Given the description of an element on the screen output the (x, y) to click on. 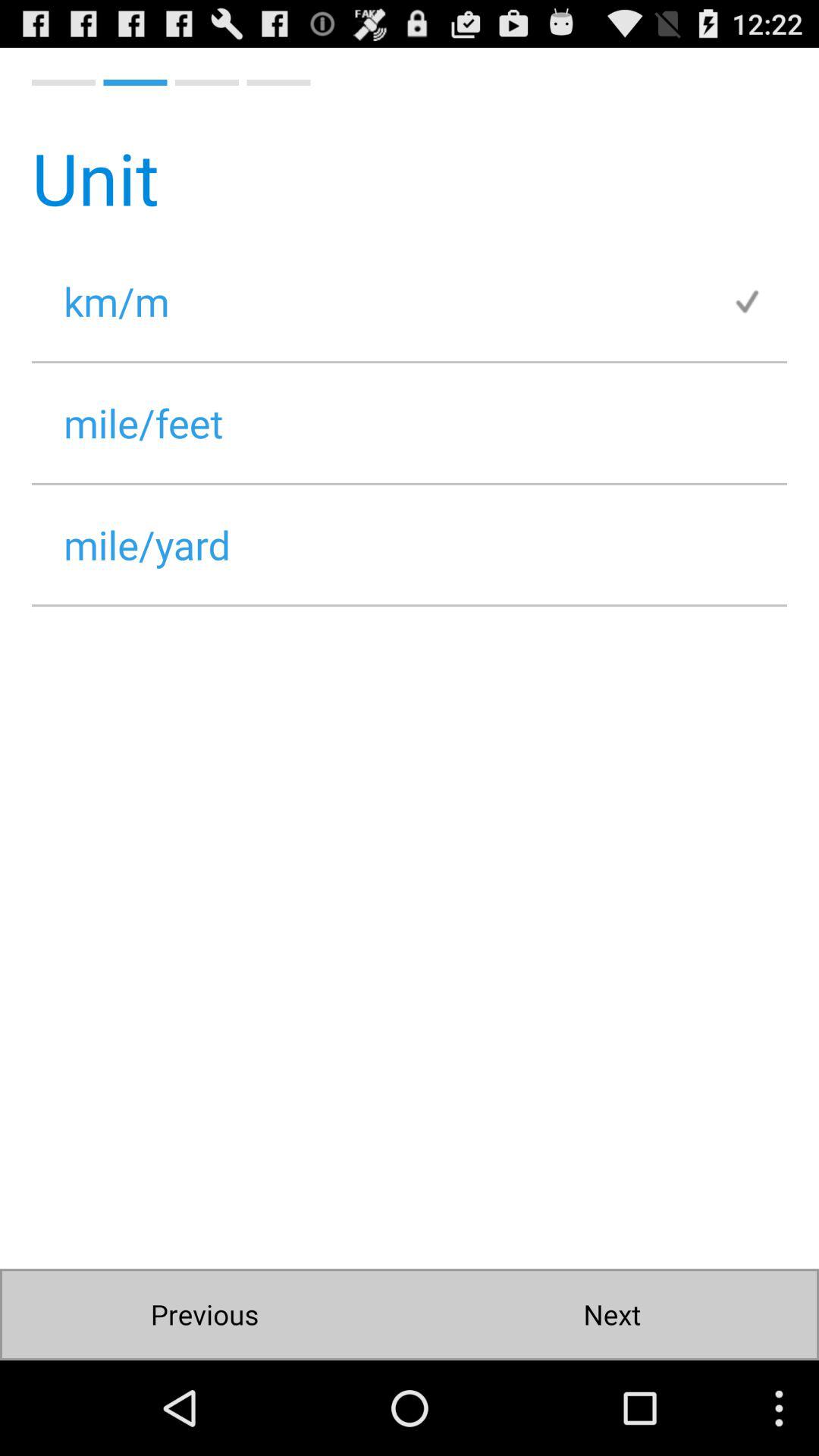
select app at the top right corner (759, 300)
